Given the description of an element on the screen output the (x, y) to click on. 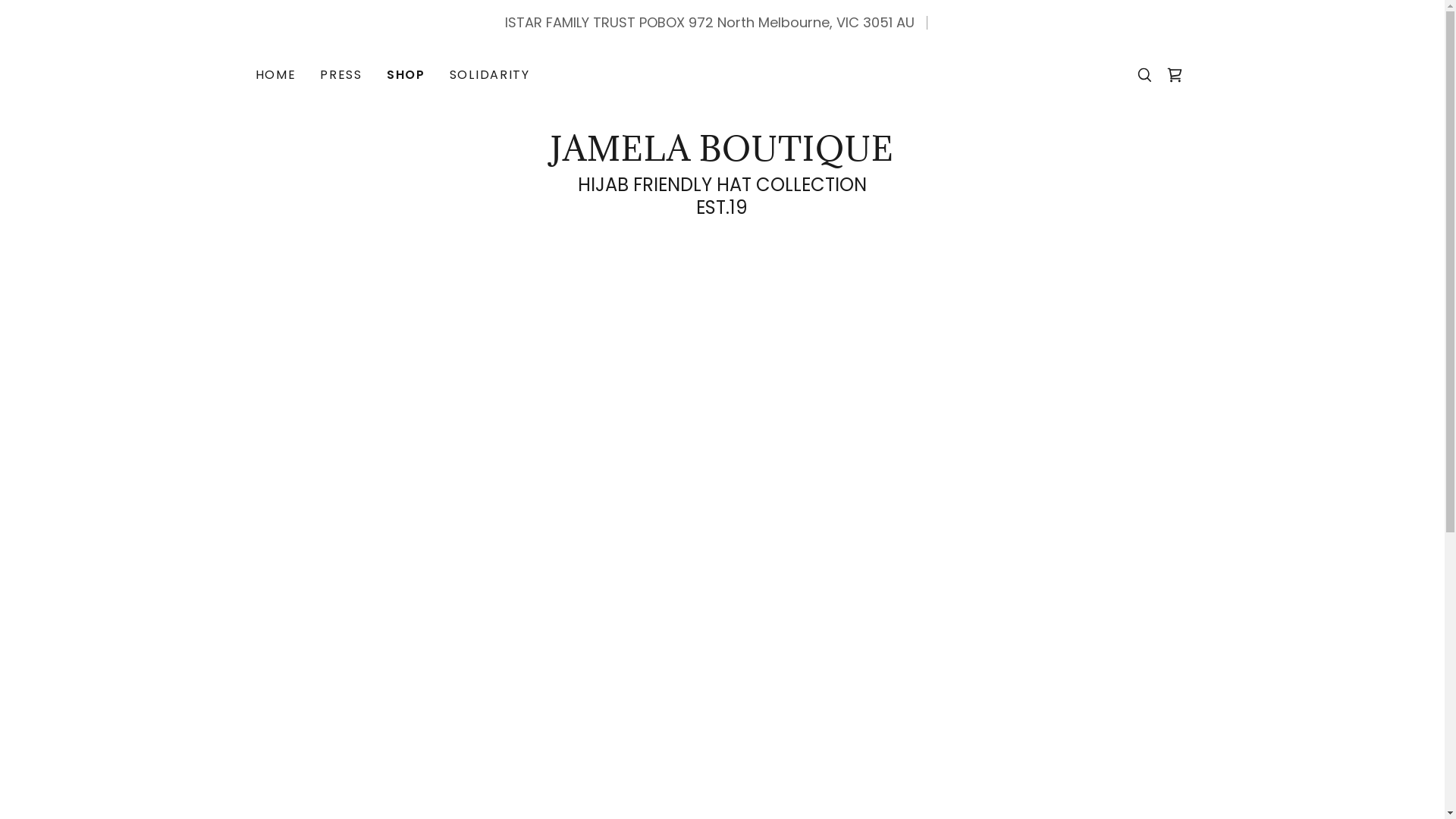
HOME Element type: text (275, 74)
SOLIDARITY Element type: text (489, 74)
SHOP Element type: text (405, 74)
JAMELA BOUTIQUE Element type: text (722, 155)
PRESS Element type: text (341, 74)
